Given the description of an element on the screen output the (x, y) to click on. 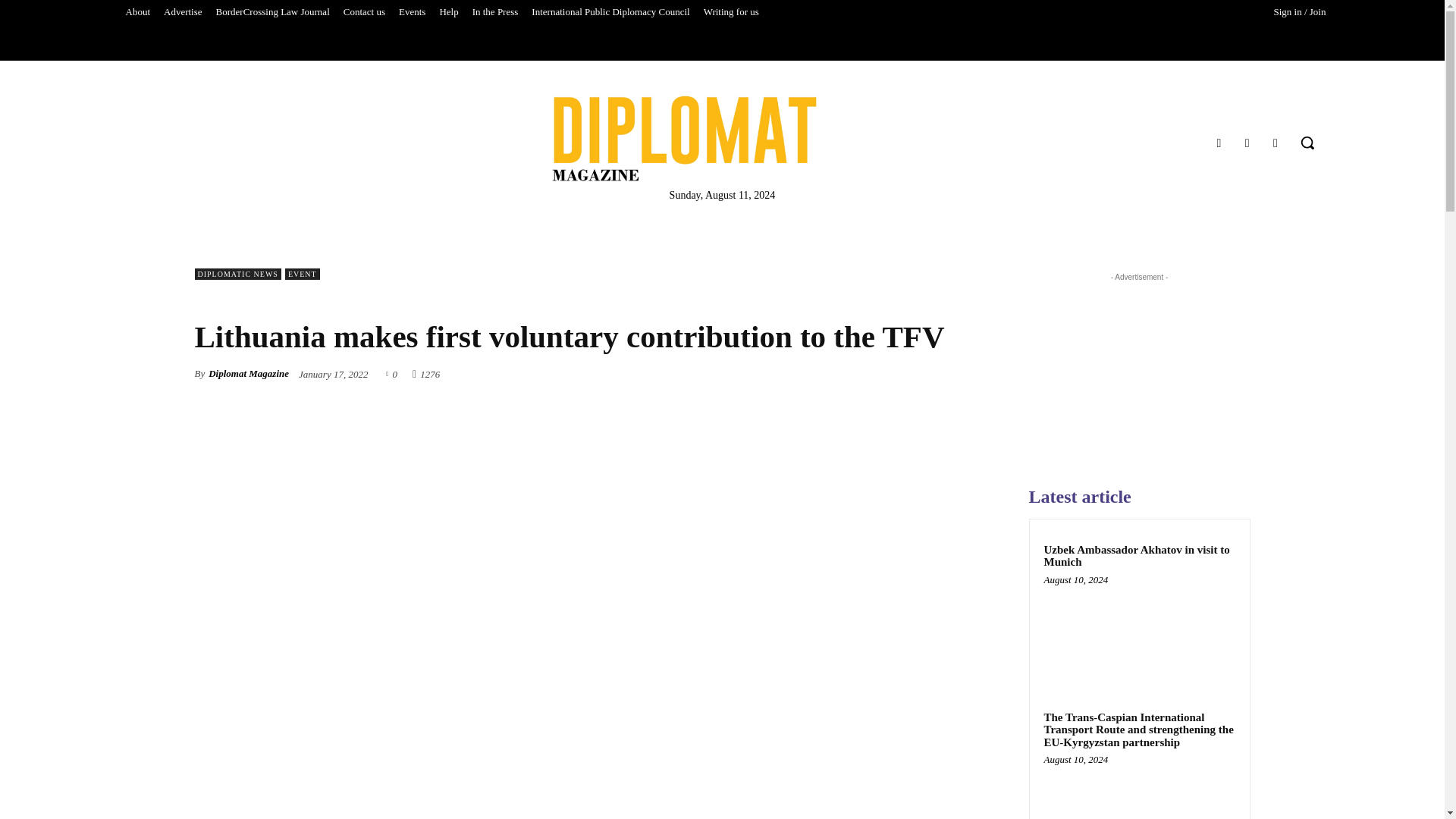
Diplomat Magazine (683, 138)
Diplomat Magazine (721, 138)
Contact us (363, 12)
Help (448, 12)
BorderCrossing Law Journal (272, 12)
About (137, 12)
Facebook (1218, 142)
Advertise (183, 12)
Events (411, 12)
In the Press (495, 12)
